Given the description of an element on the screen output the (x, y) to click on. 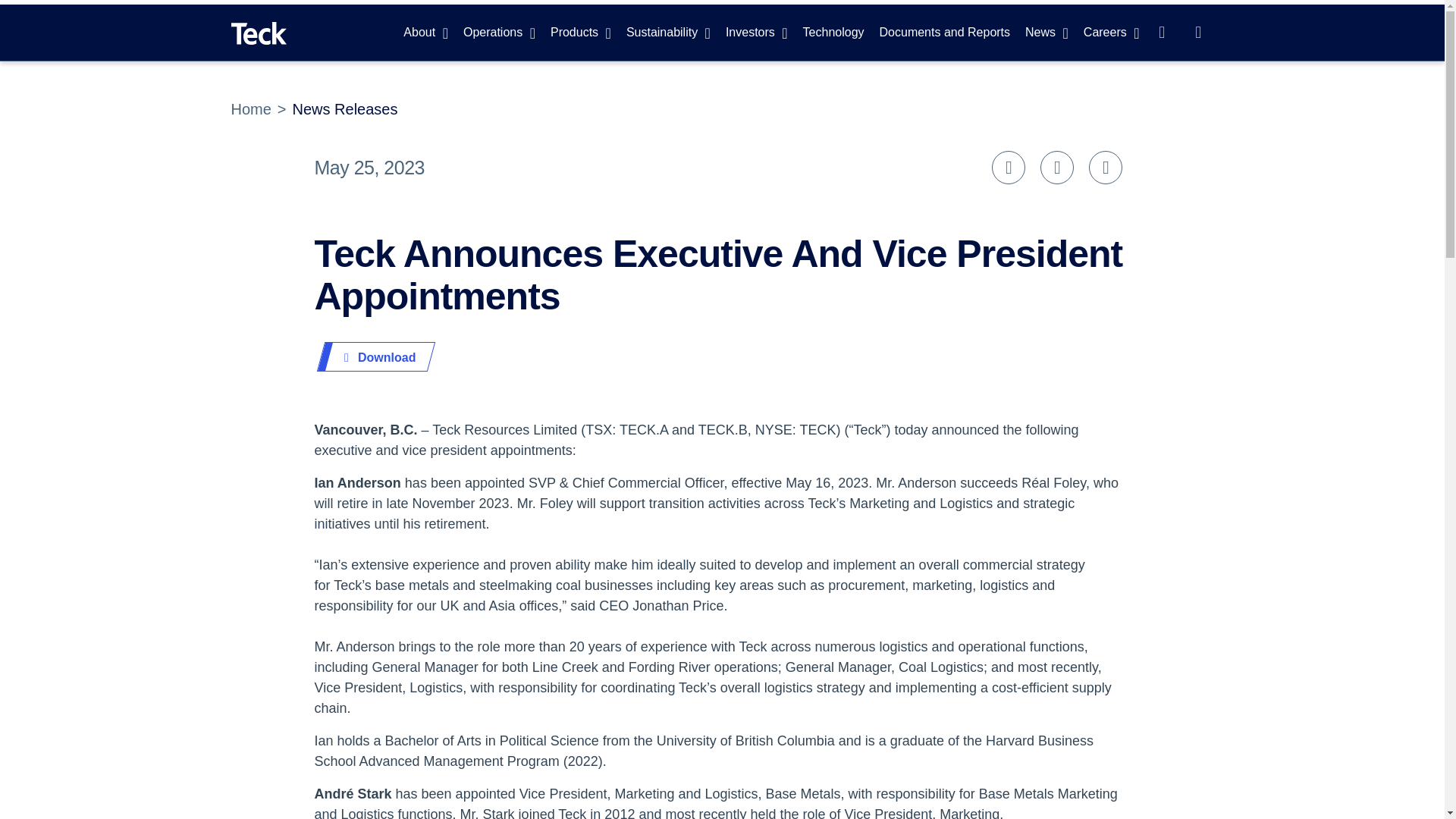
About (425, 32)
Products (580, 32)
Operations (499, 32)
